Given the description of an element on the screen output the (x, y) to click on. 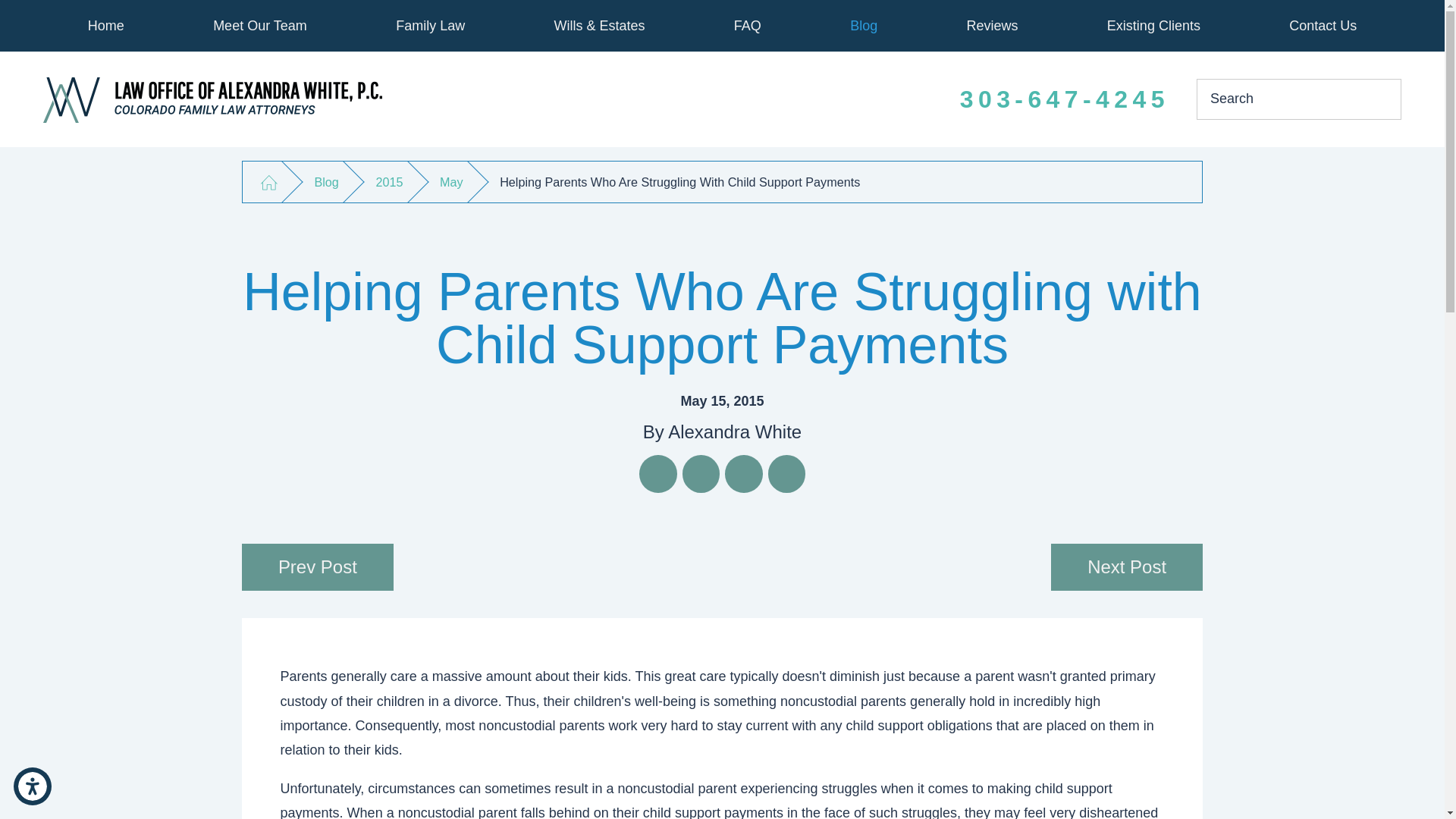
Blog (863, 25)
Meet Our Team (259, 25)
FAQ (746, 25)
Law Office of Alexandra White, PC (212, 99)
Family Law (430, 25)
Go Home (269, 181)
Search Our Site (1378, 99)
Open the accessibility options menu (31, 786)
Search Icon (1378, 99)
Home (105, 25)
